Given the description of an element on the screen output the (x, y) to click on. 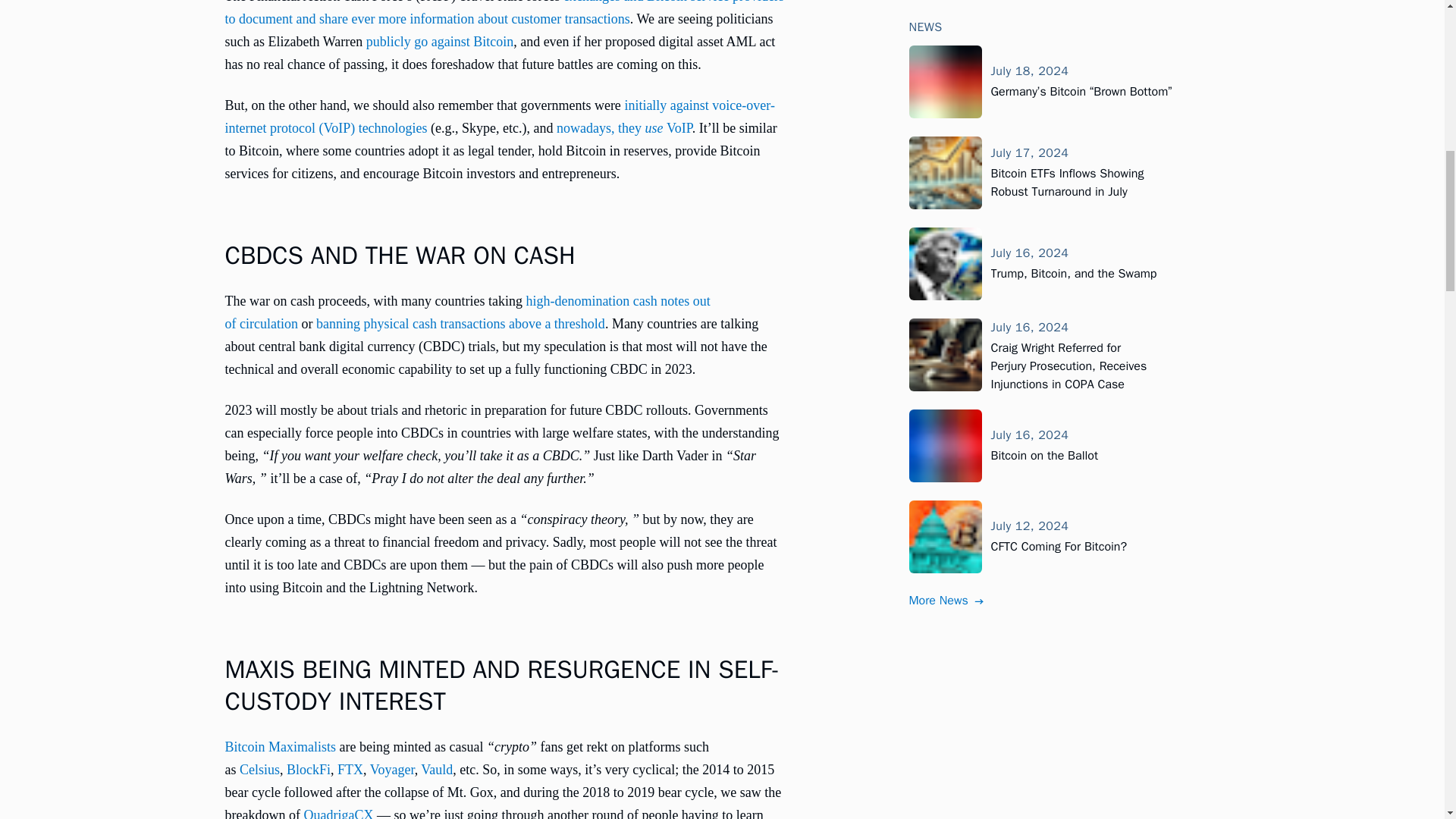
nowadays, they use VoIP (624, 127)
Bitcoin Maximalists (280, 746)
BlockFi (308, 769)
QuadrigaCX (337, 813)
publicly go against Bitcoin (439, 41)
banning physical cash transactions above a threshold (460, 323)
More News (946, 375)
Bitcoin on the Ballot (1043, 231)
